Given the description of an element on the screen output the (x, y) to click on. 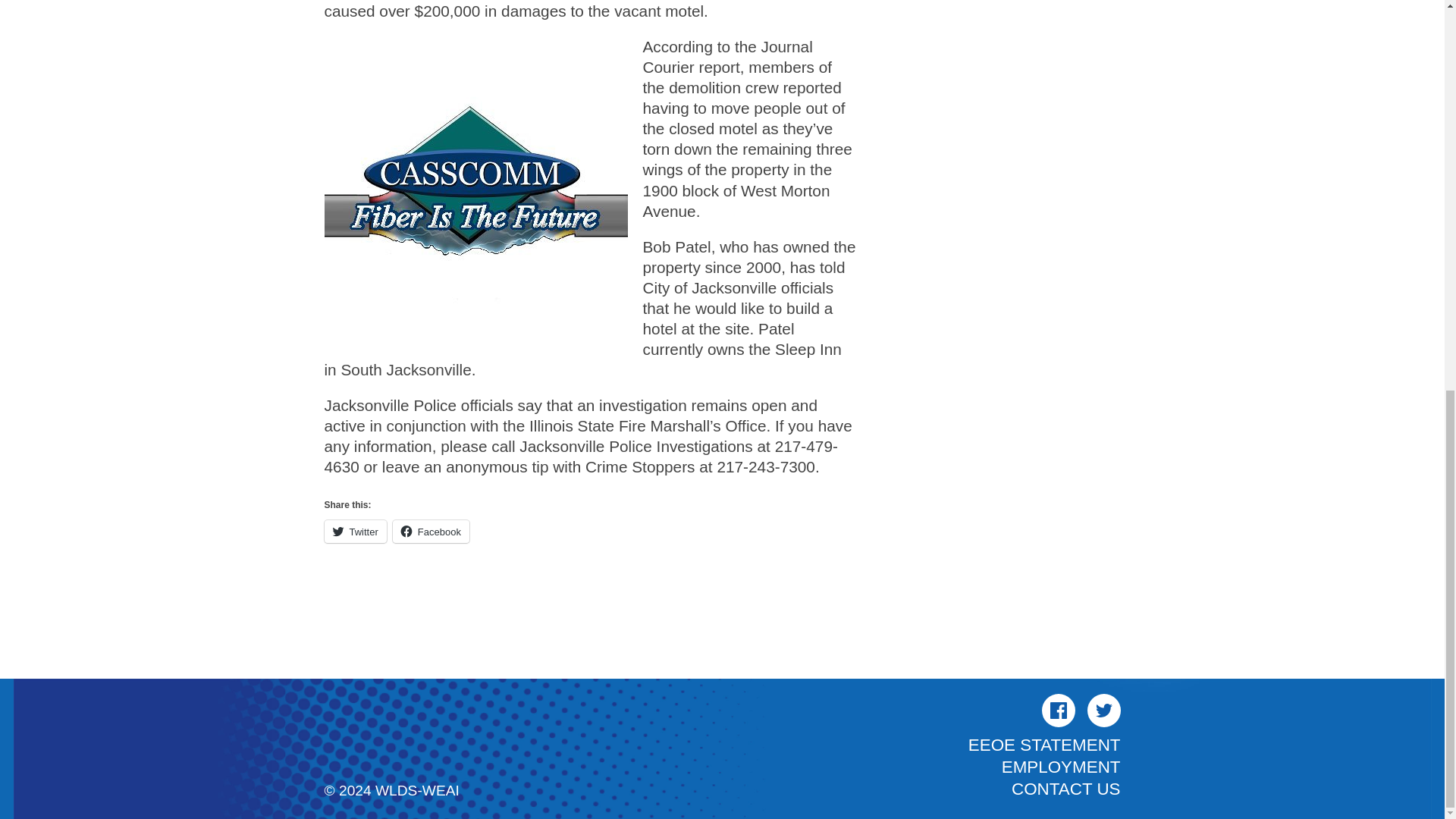
Click to share on Facebook (430, 531)
Click to share on Twitter (355, 531)
Twitter (355, 531)
Facebook (430, 531)
